Given the description of an element on the screen output the (x, y) to click on. 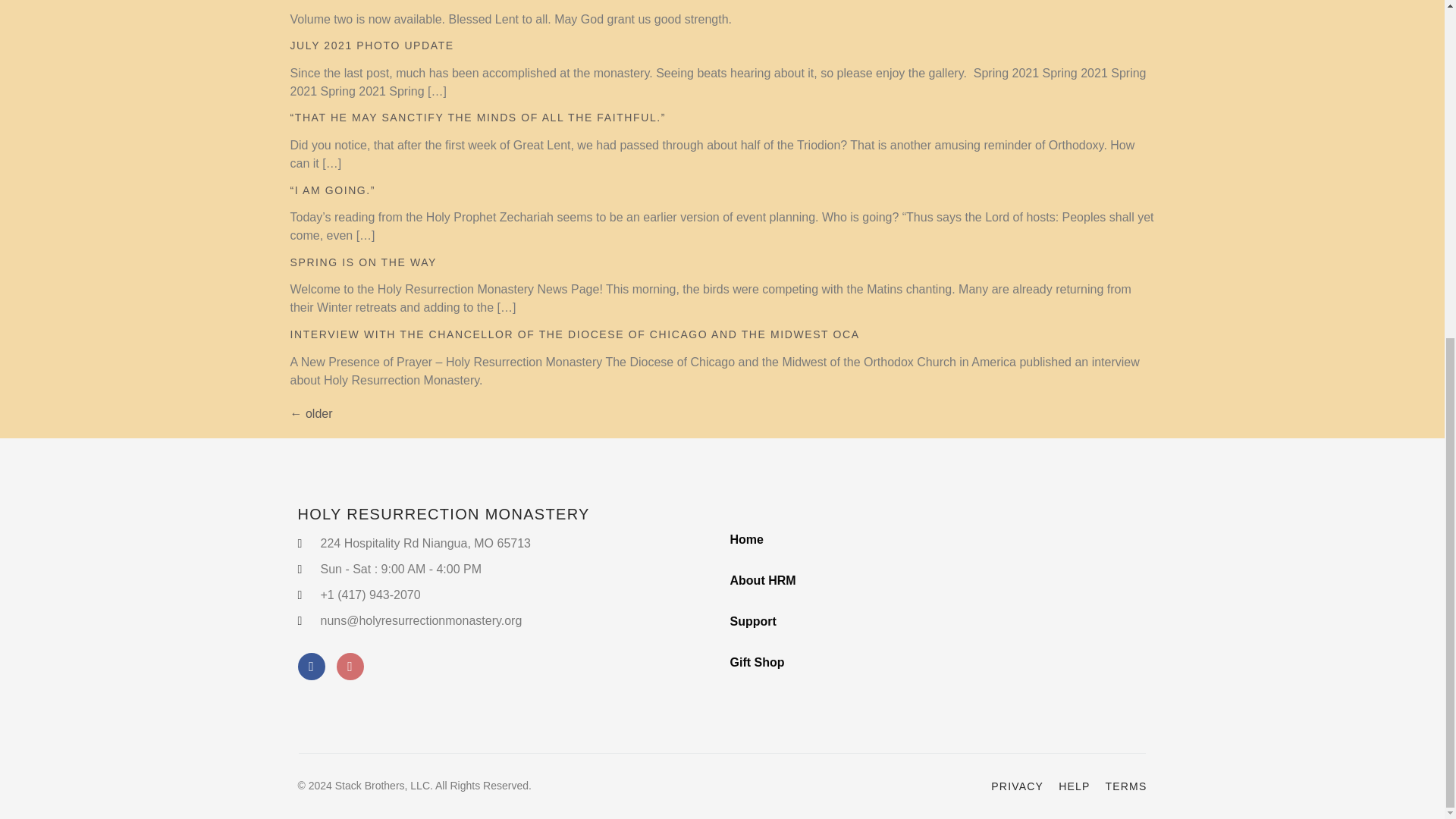
SPRING IS ON THE WAY (362, 262)
JULY 2021 PHOTO UPDATE (370, 45)
